Given the description of an element on the screen output the (x, y) to click on. 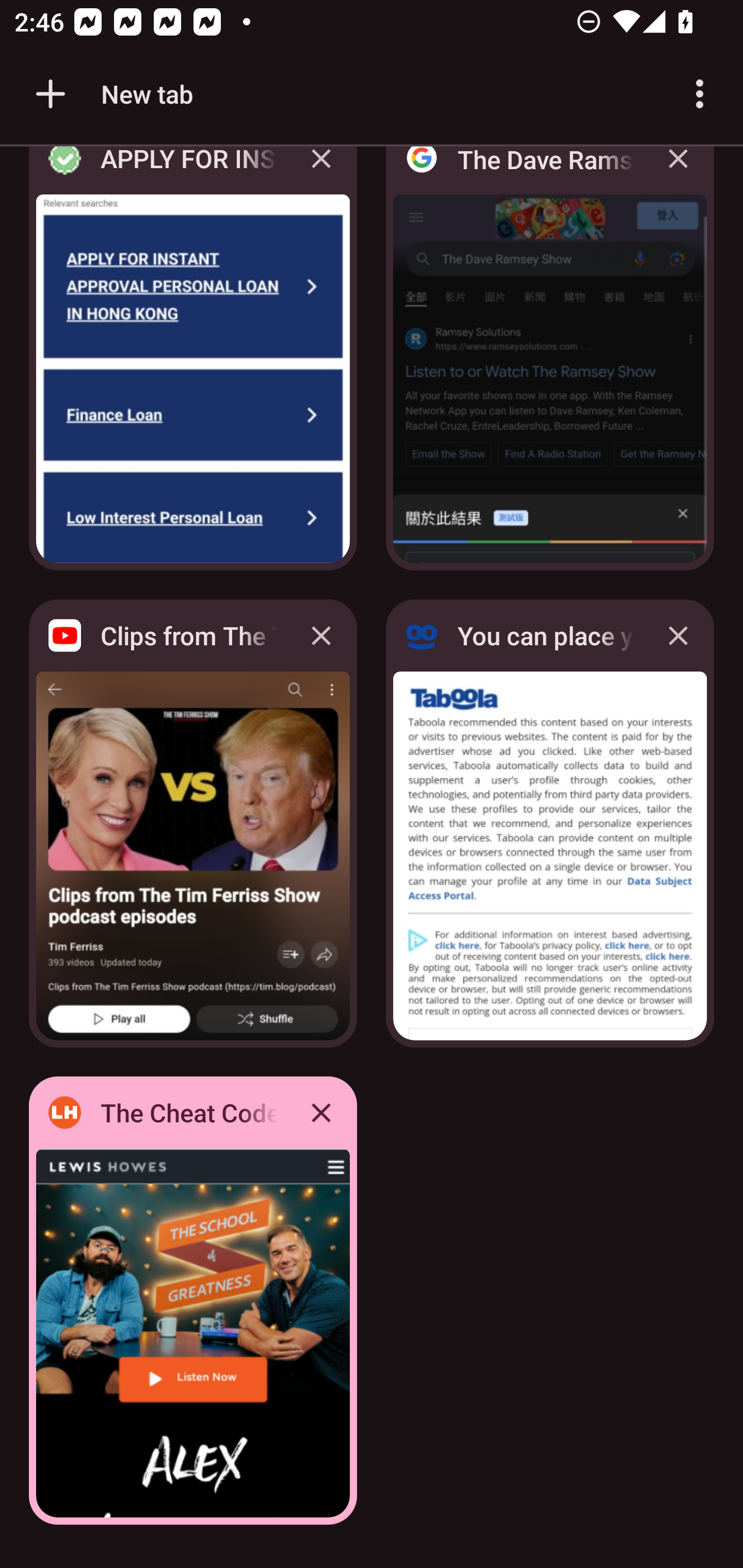
New tab (111, 93)
Customize and control Google Chrome (699, 93)
Close The Dave Ramsey Show - Google 搜尋 tab (677, 173)
